Given the description of an element on the screen output the (x, y) to click on. 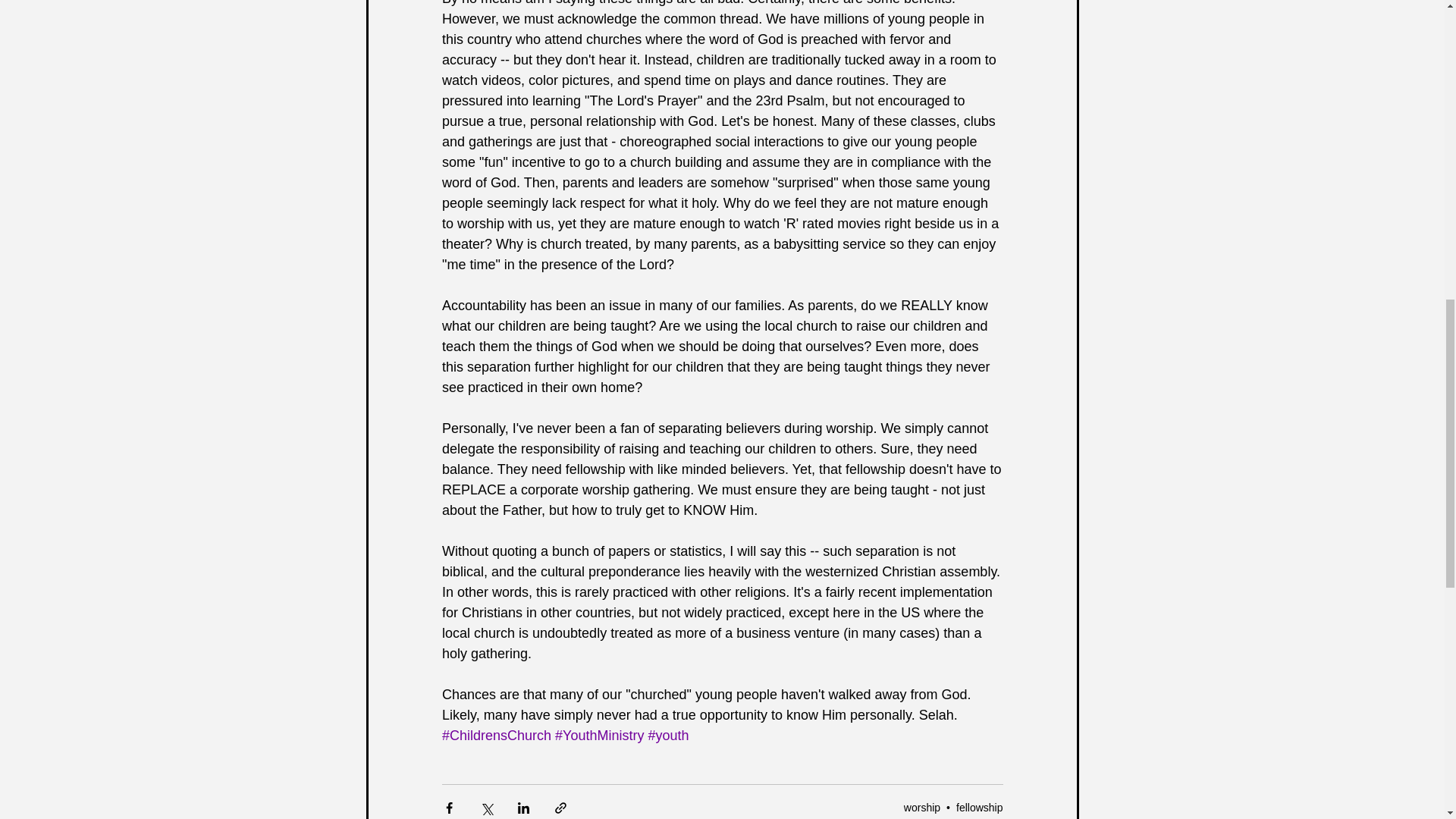
worship (922, 806)
fellowship (979, 806)
